Given the description of an element on the screen output the (x, y) to click on. 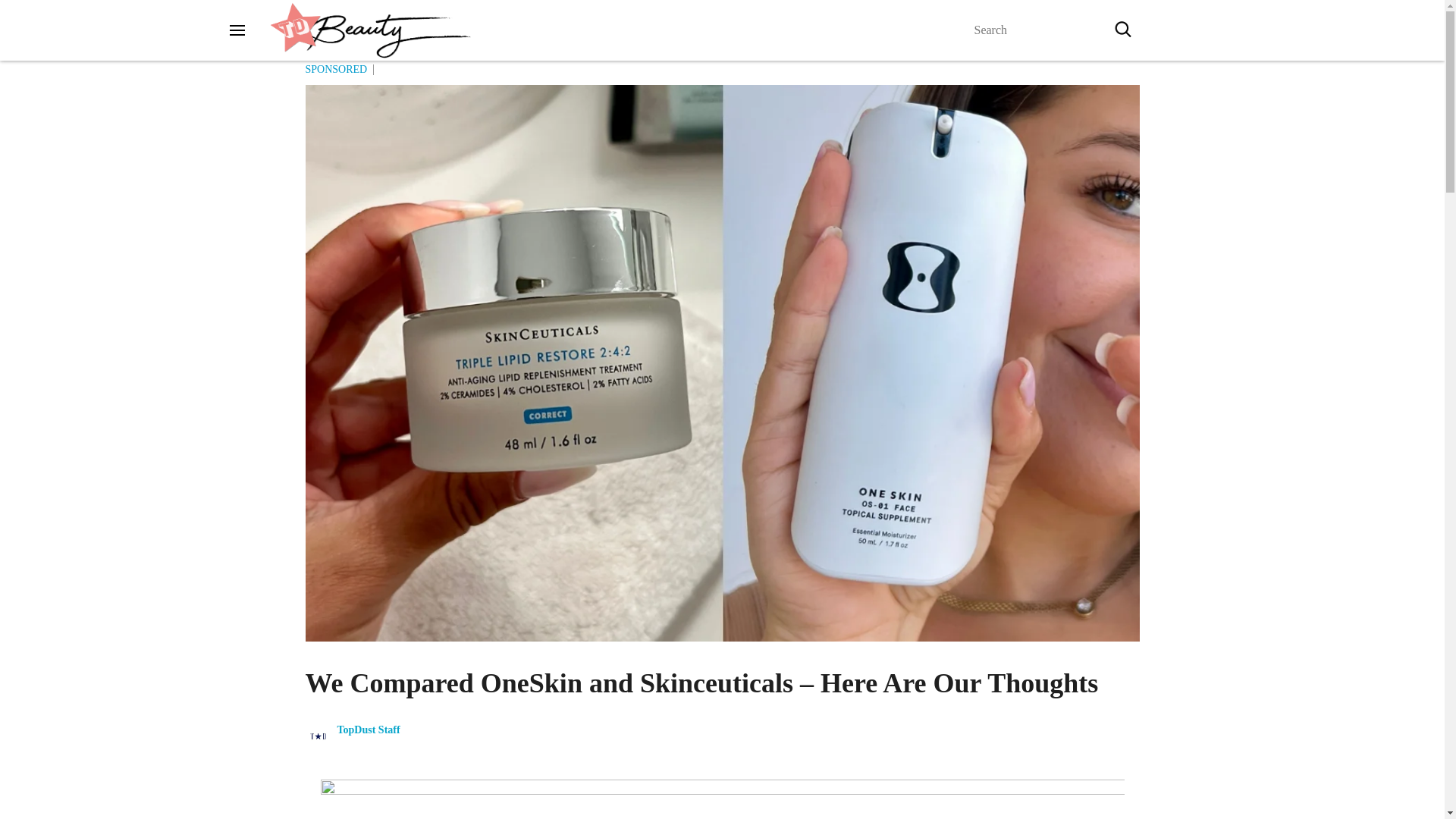
TopDust Staff (367, 729)
